Given the description of an element on the screen output the (x, y) to click on. 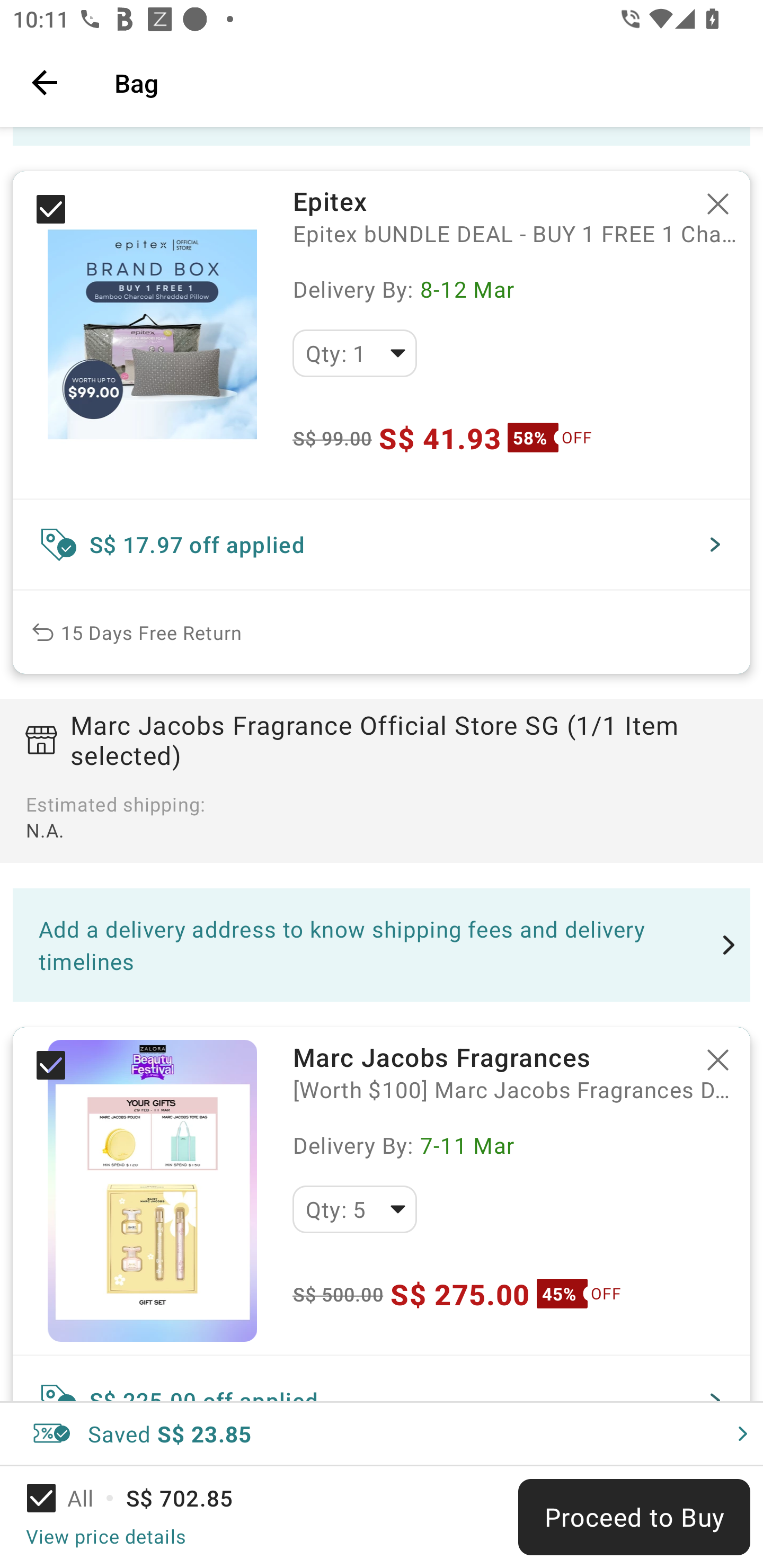
Navigate up (44, 82)
Bag (426, 82)
Qty: 1 (354, 353)
S$ 17.97 off applied (381, 544)
Qty: 5 (354, 1208)
Saved S$ 23.85 (381, 1433)
All (72, 1497)
Proceed to Buy (634, 1516)
View price details (105, 1535)
